Given the description of an element on the screen output the (x, y) to click on. 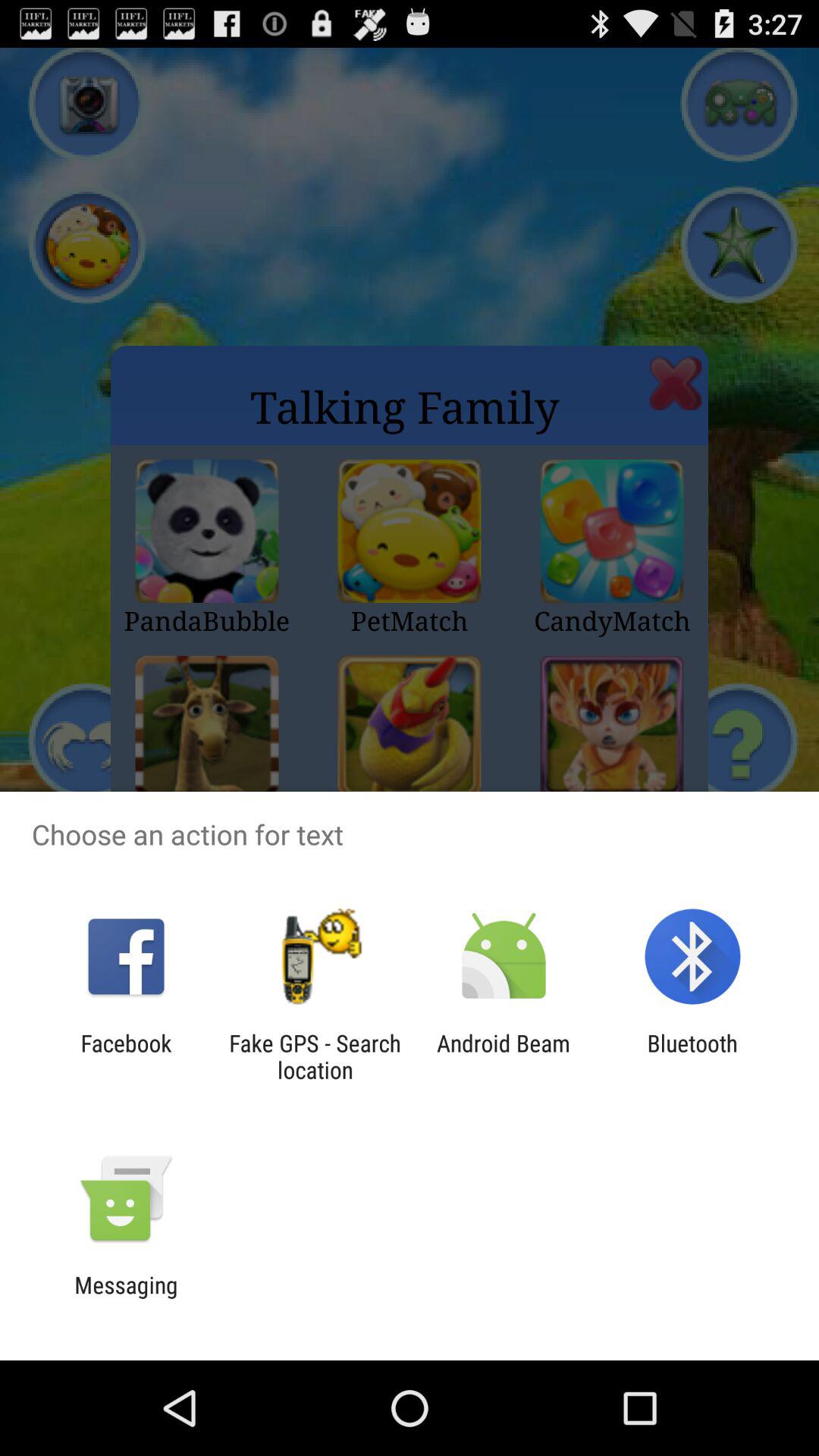
click the bluetooth (692, 1056)
